Given the description of an element on the screen output the (x, y) to click on. 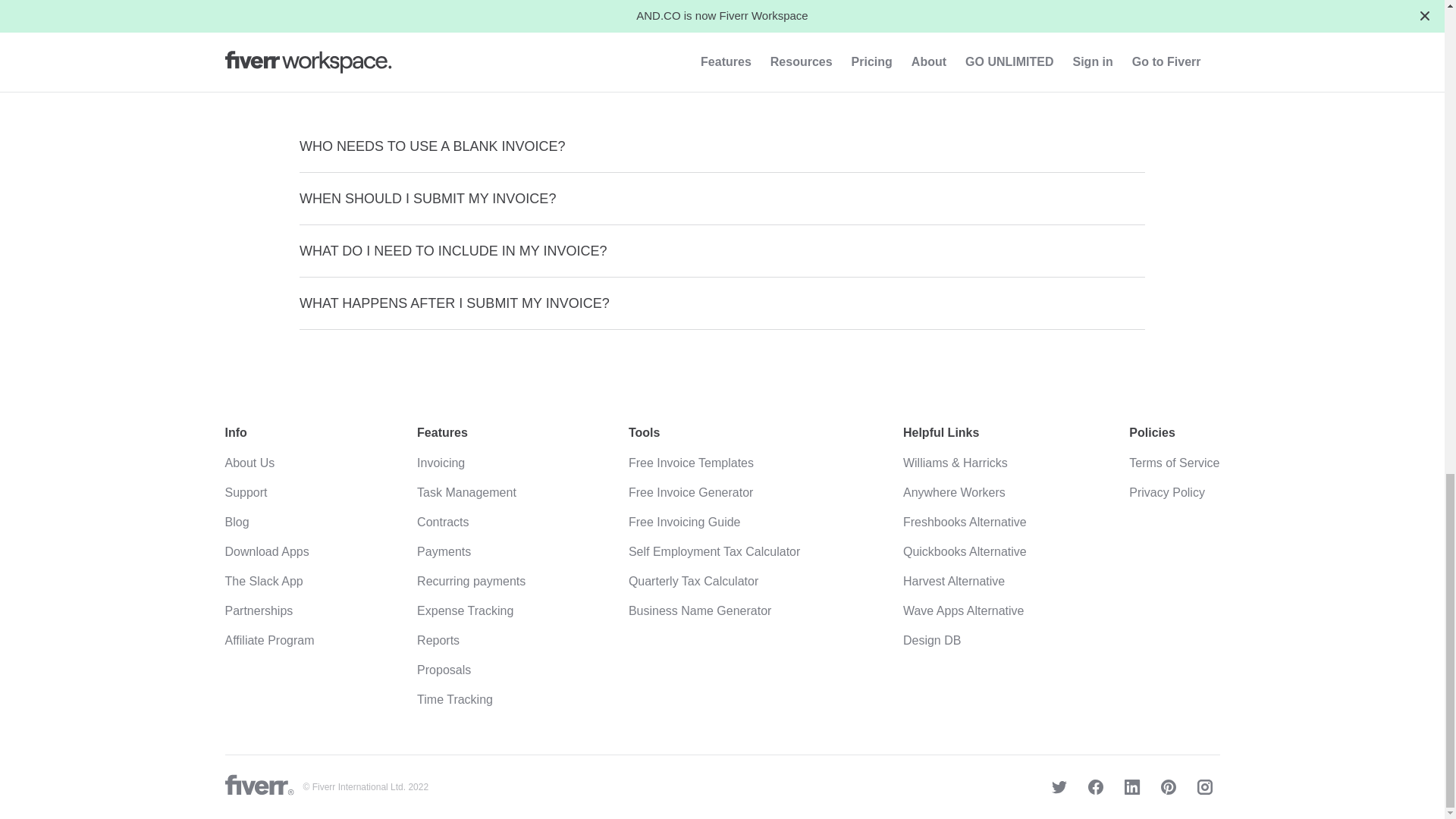
Support (245, 492)
Affiliate Program (269, 640)
Blog (236, 521)
Download Apps (266, 551)
Partnerships (258, 610)
About Us (249, 462)
The Slack App (263, 581)
Invoicing (440, 462)
